Given the description of an element on the screen output the (x, y) to click on. 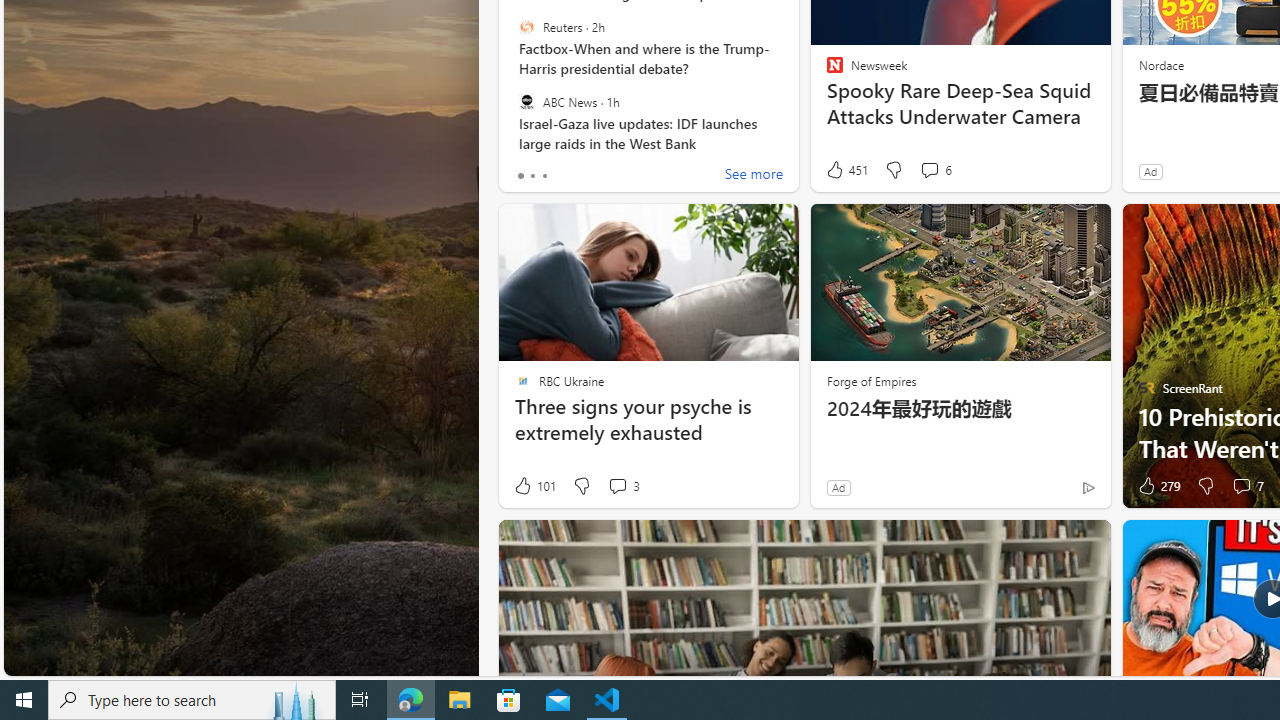
279 Like (1157, 485)
451 Like (845, 170)
View comments 6 Comment (929, 169)
tab-1 (532, 175)
View comments 7 Comment (1241, 485)
ABC News (526, 101)
101 Like (534, 485)
tab-0 (520, 175)
View comments 3 Comment (617, 485)
